Given the description of an element on the screen output the (x, y) to click on. 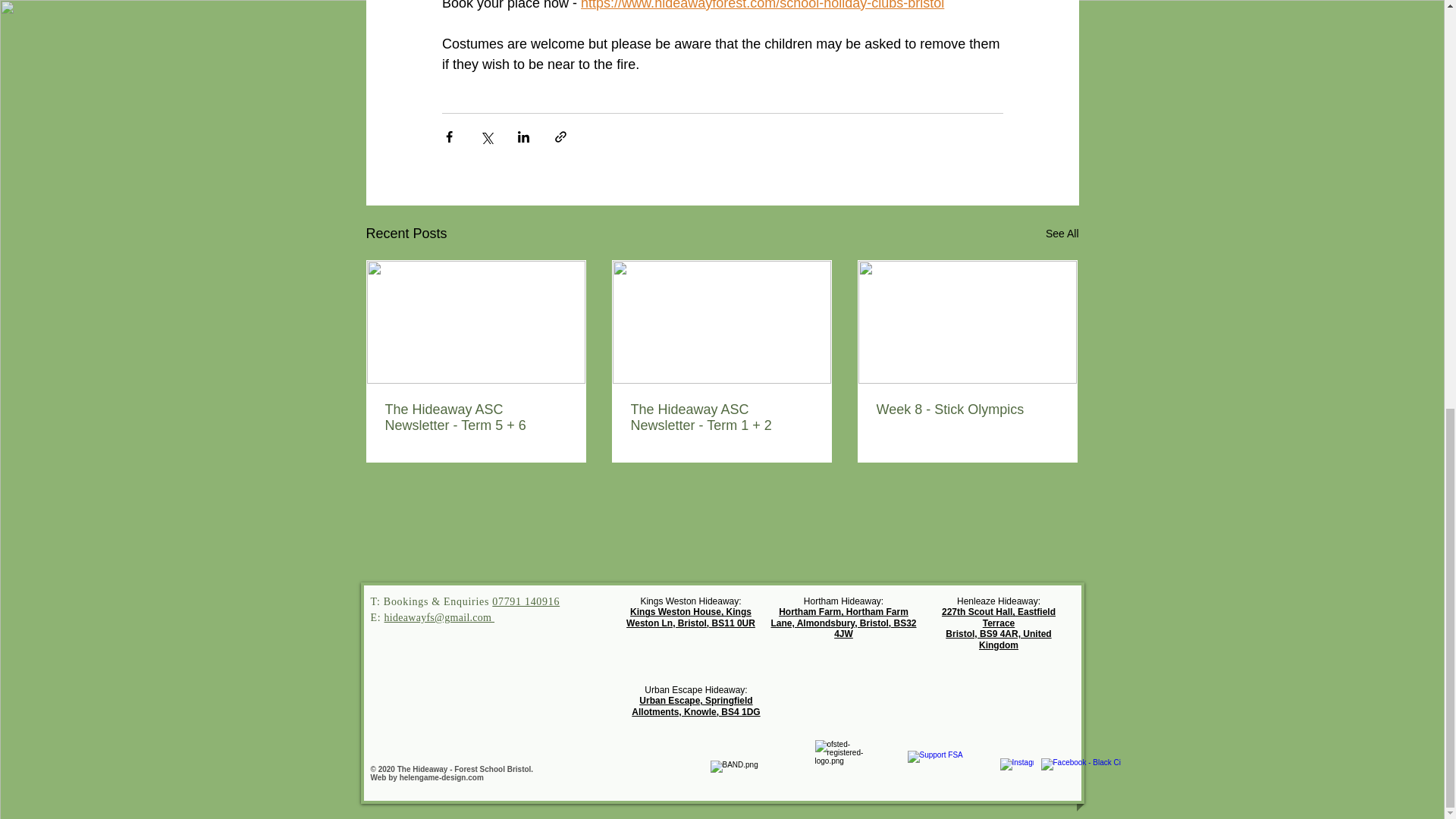
Week 8 - Stick Olympics (967, 406)
Henleaze Hideaway: (998, 597)
See All (1061, 230)
Kings Weston House, Kings Weston Ln, Bristol, BS11 0UR (690, 613)
Urban Escape, Springfield Allotments, Knowle, BS4 1DG (695, 705)
helengame-design.com (440, 777)
227th Scout Hall, Eastfield Terrace (998, 613)
Bristol, BS9 4AR, United Kingdom (997, 636)
